Given the description of an element on the screen output the (x, y) to click on. 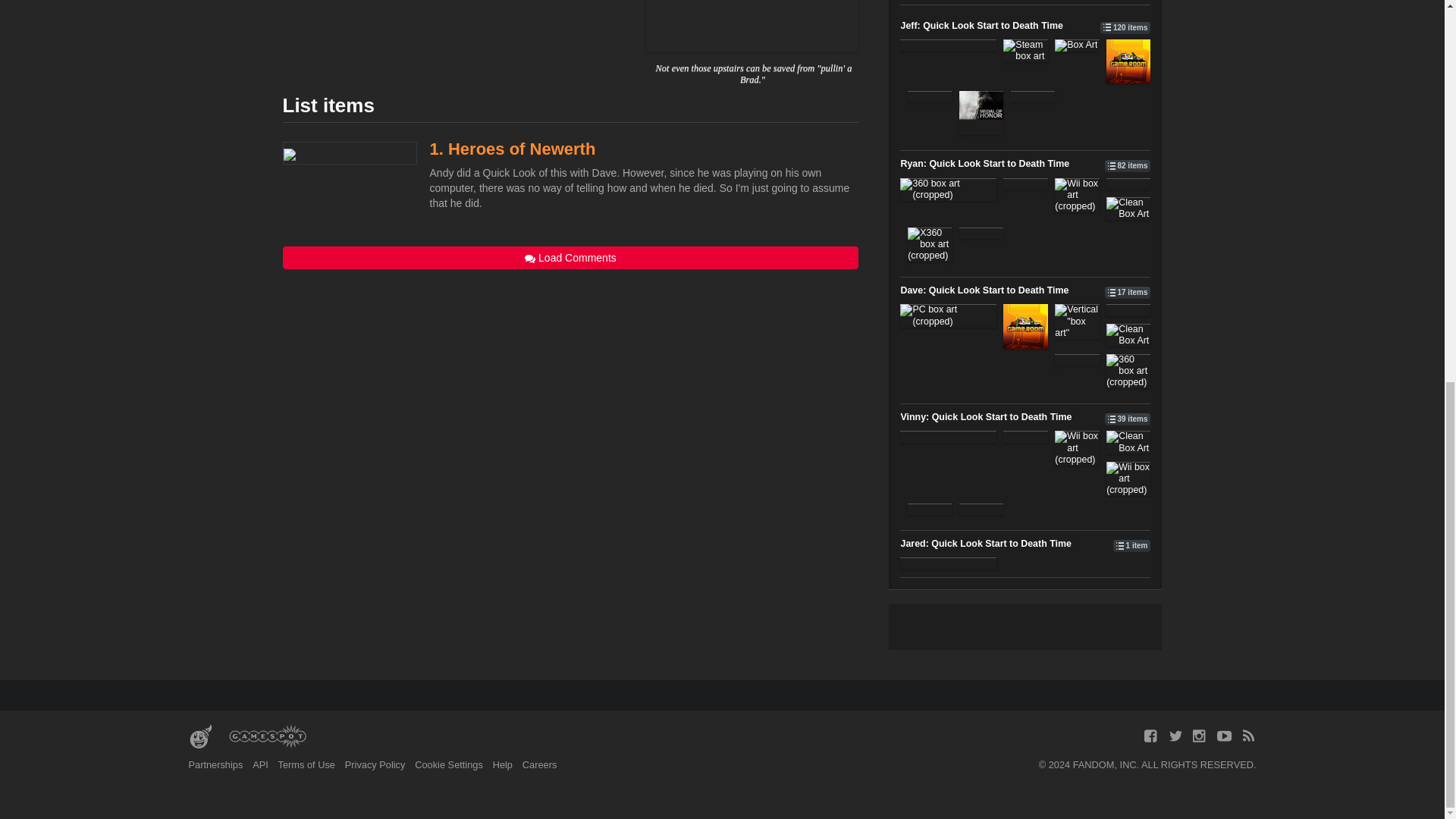
GameSpot (266, 736)
Giant Bomb (199, 736)
RSS (1248, 736)
